Given the description of an element on the screen output the (x, y) to click on. 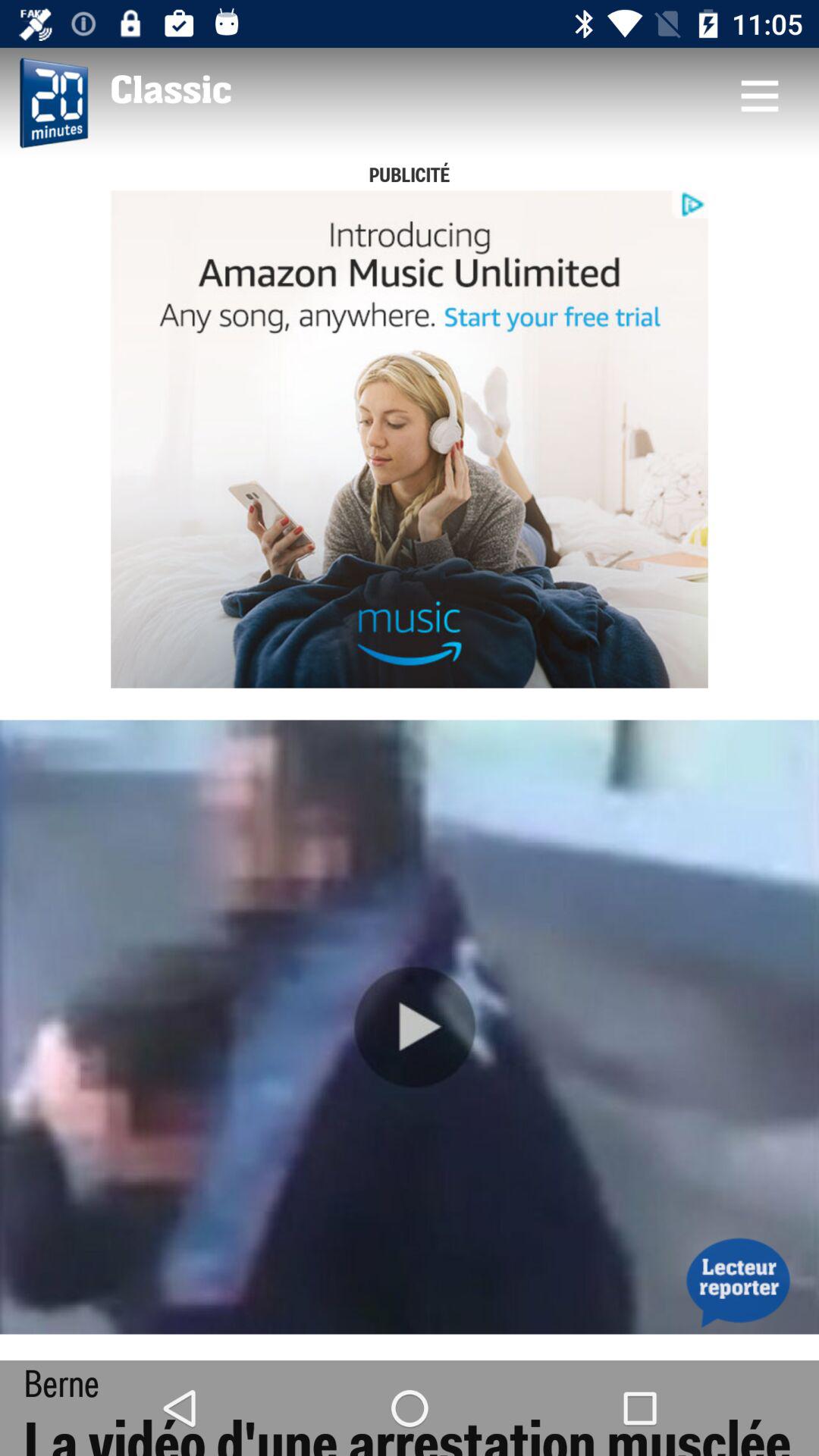
options (759, 95)
